Given the description of an element on the screen output the (x, y) to click on. 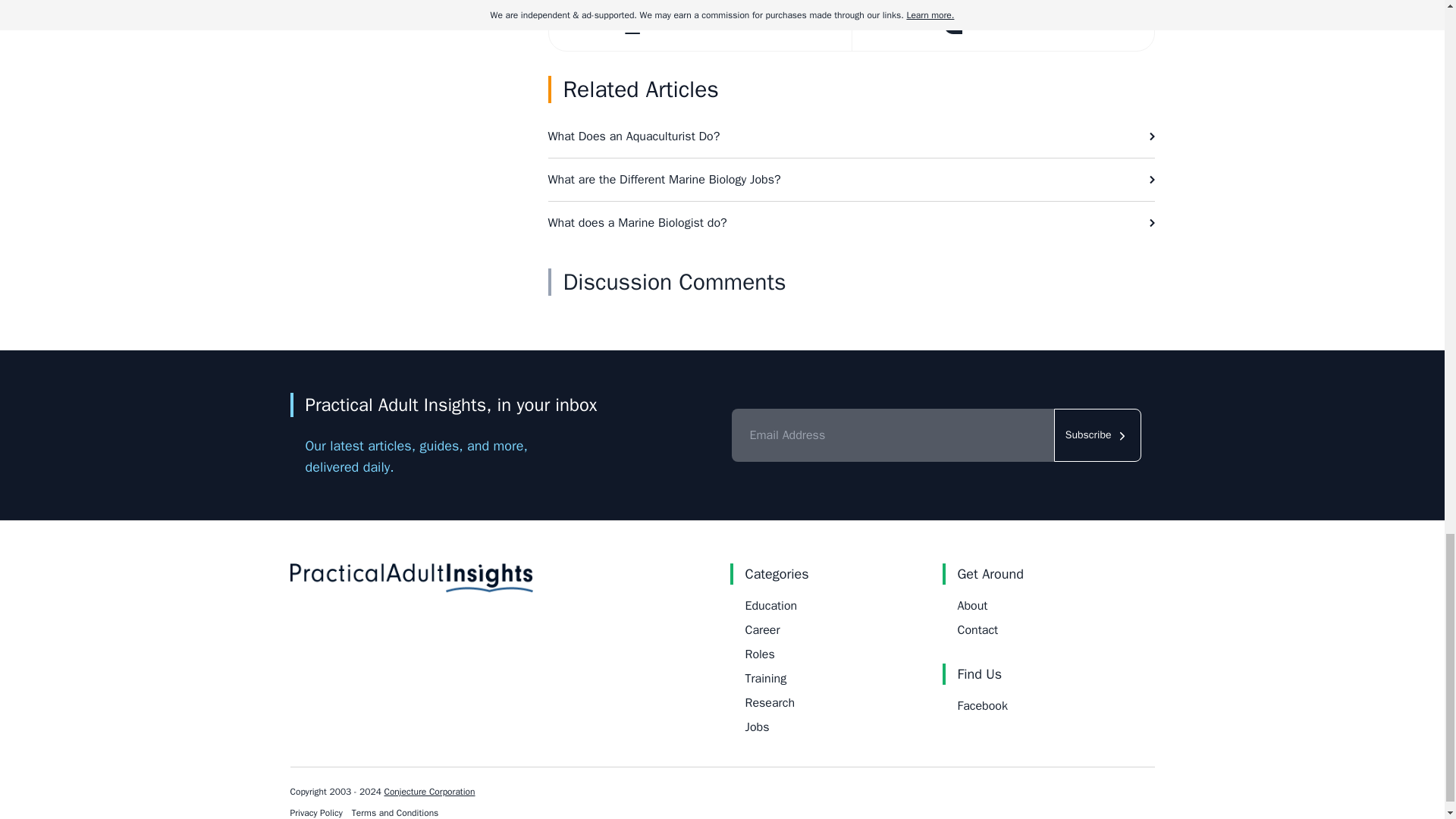
See our Editorial Process (699, 25)
What does a Marine Biologist do? (850, 222)
What are the Different Marine Biology Jobs? (850, 179)
Share Feedback (1001, 25)
What Does an Aquaculturist Do? (850, 136)
